Given the description of an element on the screen output the (x, y) to click on. 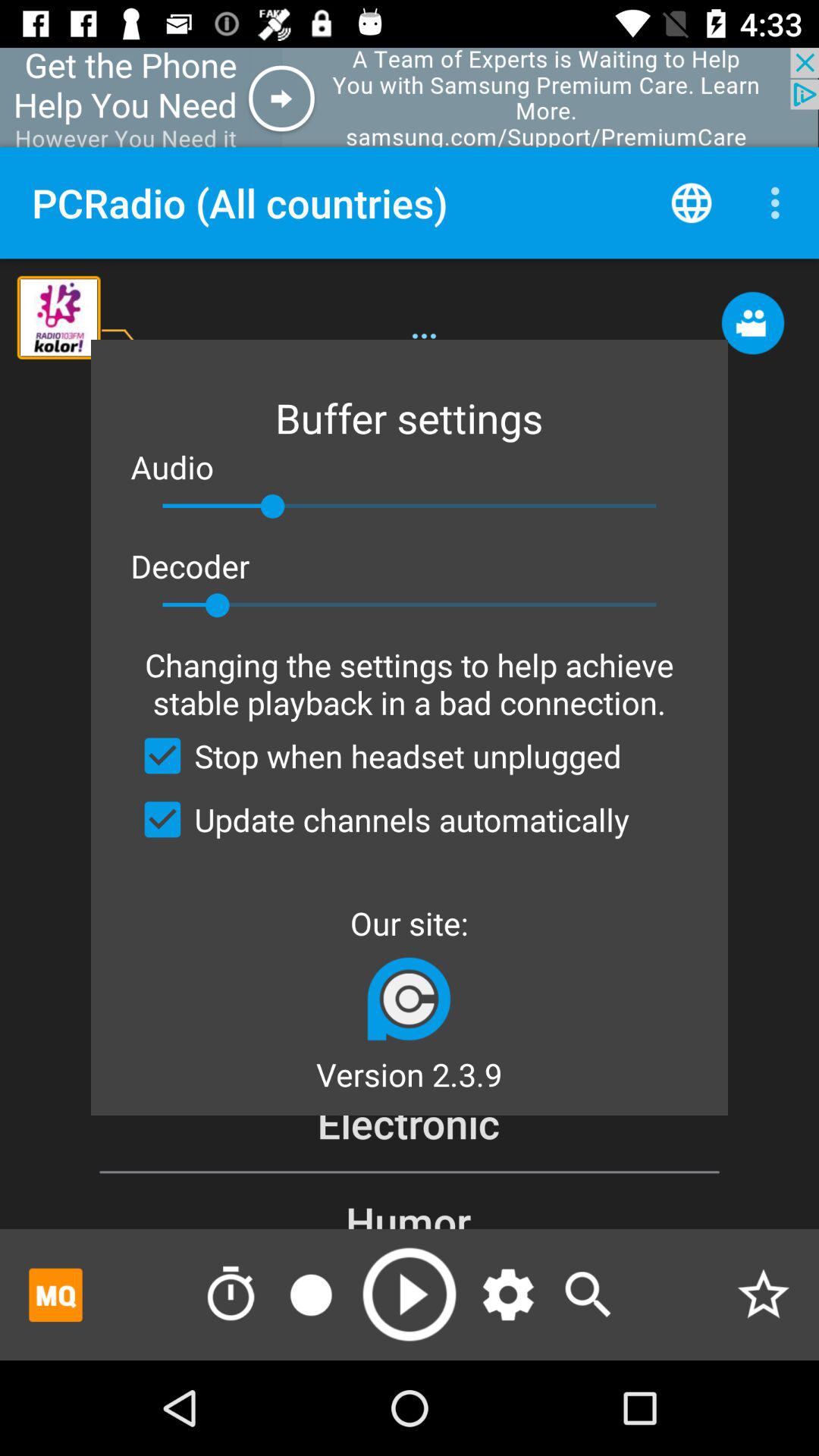
choose stop when headset icon (375, 755)
